Given the description of an element on the screen output the (x, y) to click on. 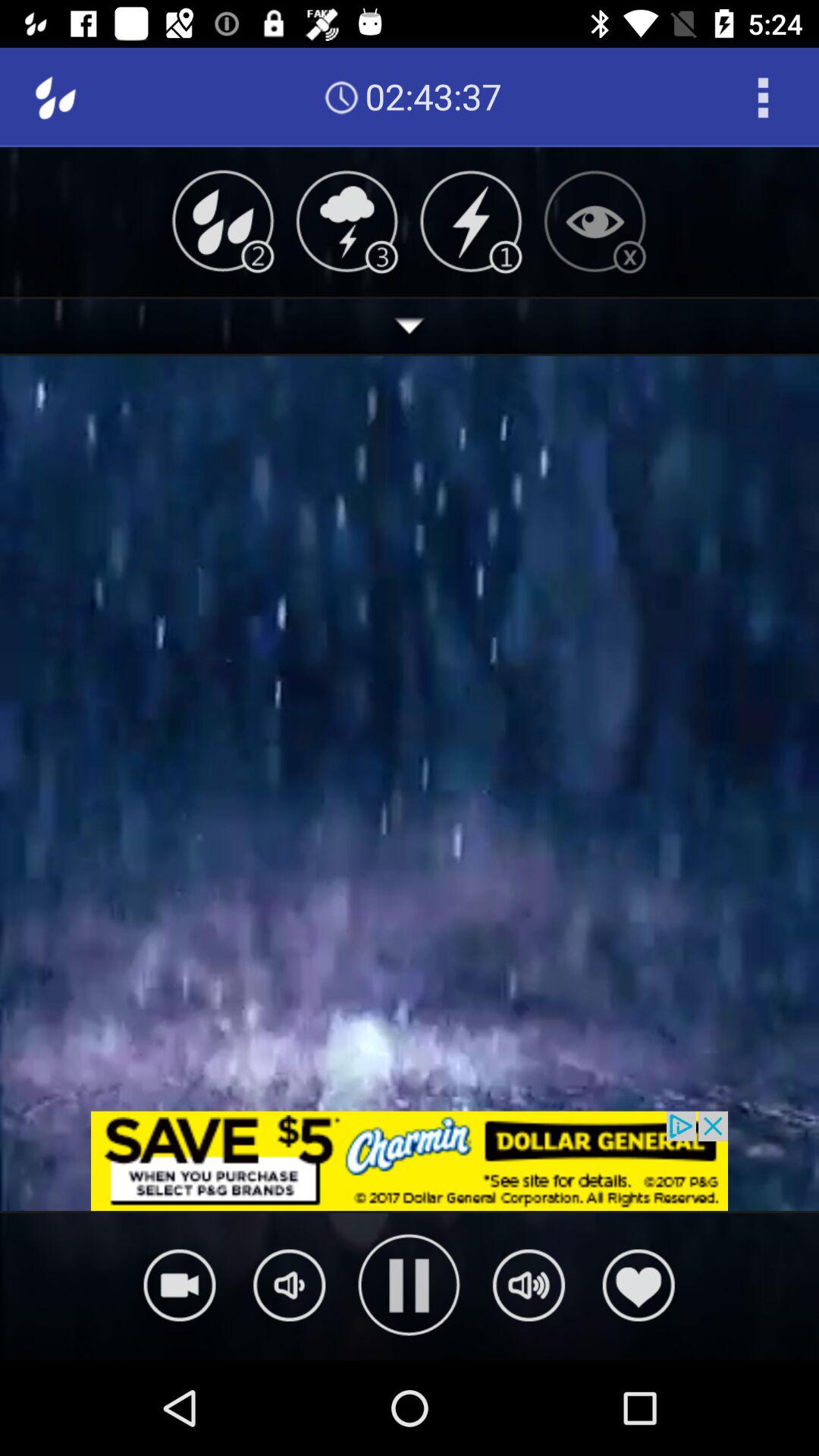
open the options menu (763, 97)
